Given the description of an element on the screen output the (x, y) to click on. 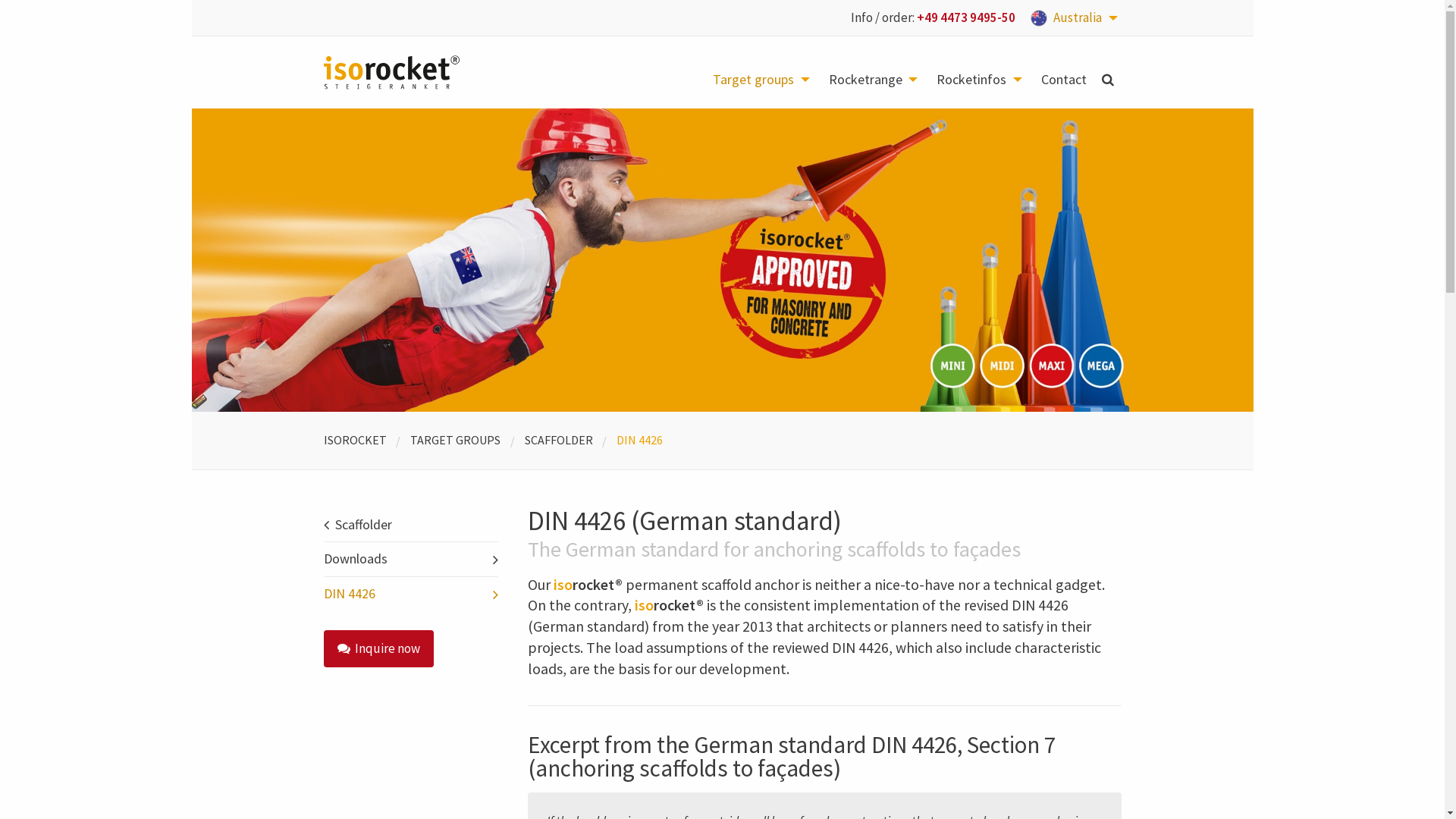
DIN 4426 Element type: text (410, 594)
SCAFFOLDER Element type: text (558, 439)
TARGET GROUPS Element type: text (455, 439)
Rocketinfos Element type: text (981, 79)
Australia Element type: text (1075, 17)
Scaffolder Element type: text (410, 525)
+49 4473 9495-50 Element type: text (965, 17)
Target groups Element type: text (762, 79)
Contact Element type: text (1062, 79)
Inquire now Element type: text (378, 648)
Rocketrange Element type: text (874, 79)
ISOROCKET Element type: text (354, 439)
Downloads Element type: text (410, 559)
